Given the description of an element on the screen output the (x, y) to click on. 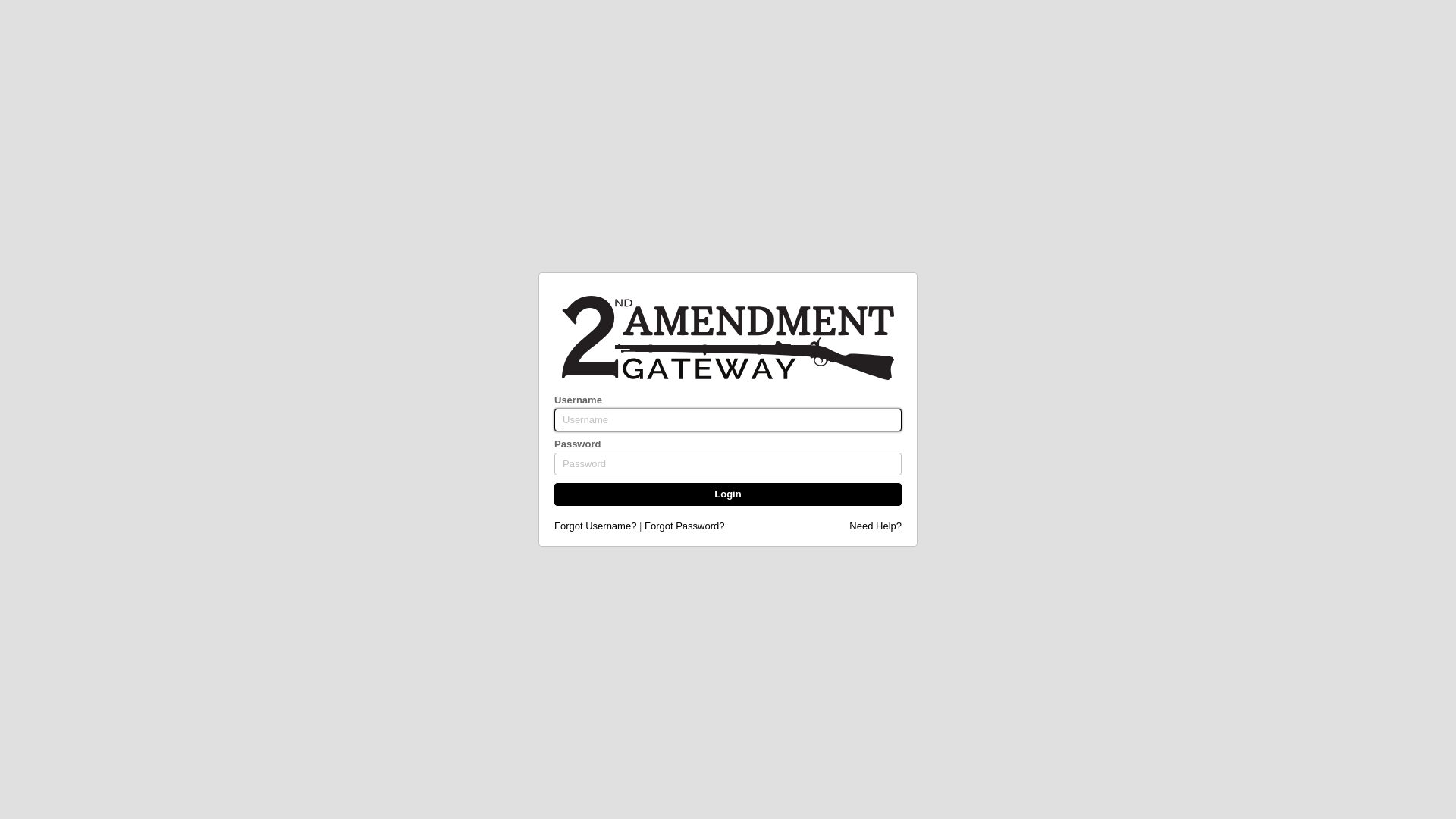
Forgot Username? Element type: text (595, 525)
Need Help? Element type: text (875, 525)
Login Element type: text (727, 494)
Forgot Password? Element type: text (684, 525)
